Given the description of an element on the screen output the (x, y) to click on. 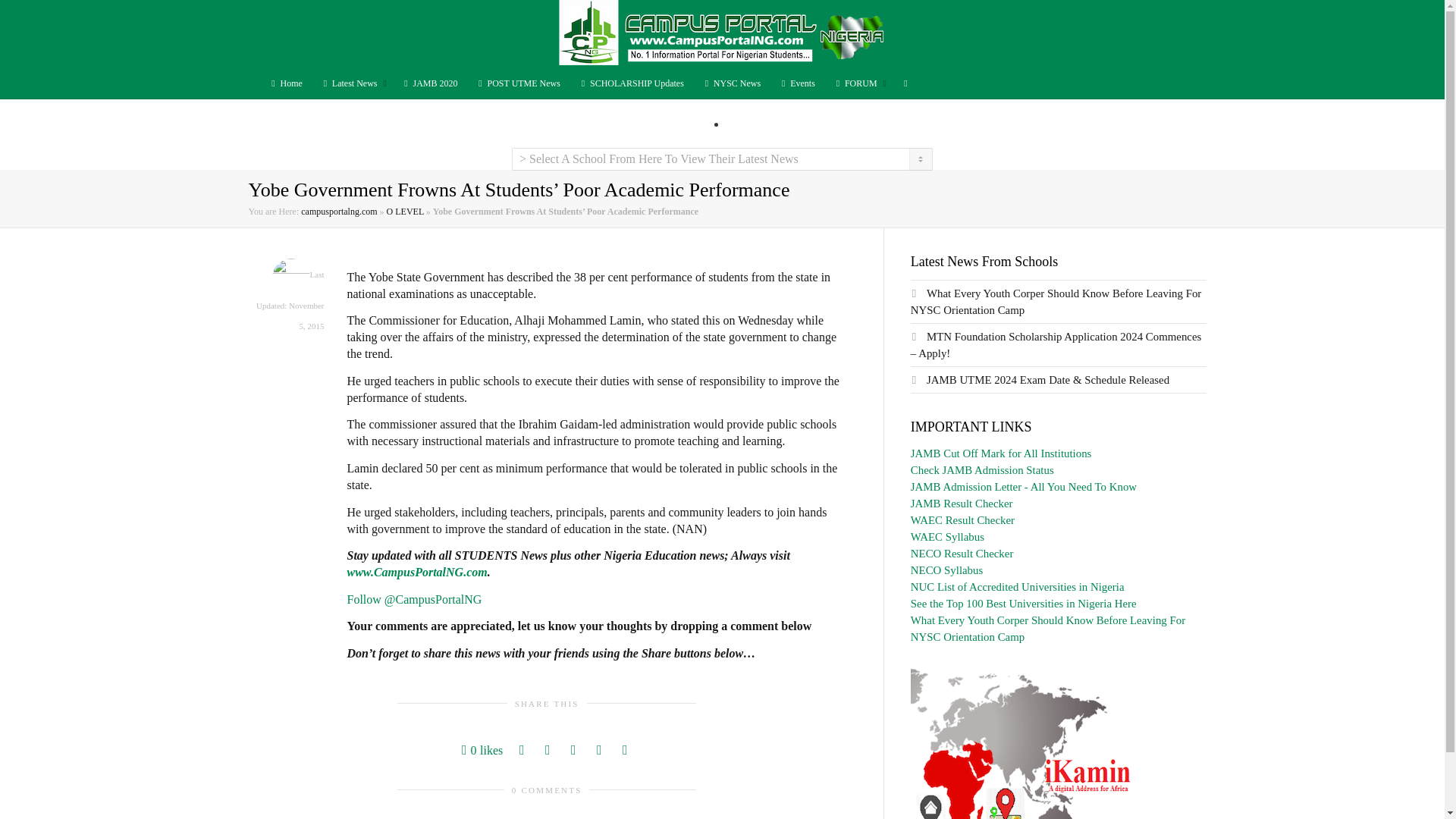
JAMB Result Checker (962, 503)
Events (796, 82)
Nigeria Students forum (857, 82)
FORUM (857, 82)
campusportalng.com (339, 211)
SCHOLARSHIP Updates (631, 82)
Latest NYSC Updates (730, 82)
www.CampusPortalNG.com (417, 571)
Latest JAMB News (429, 82)
CampusPortalNg.com Homepage (284, 82)
JAMB 2020 (429, 82)
0 likes (481, 750)
Latest POST UTME Infos (518, 82)
JAMB Admission Letter - All You Need To Know (1024, 486)
